Given the description of an element on the screen output the (x, y) to click on. 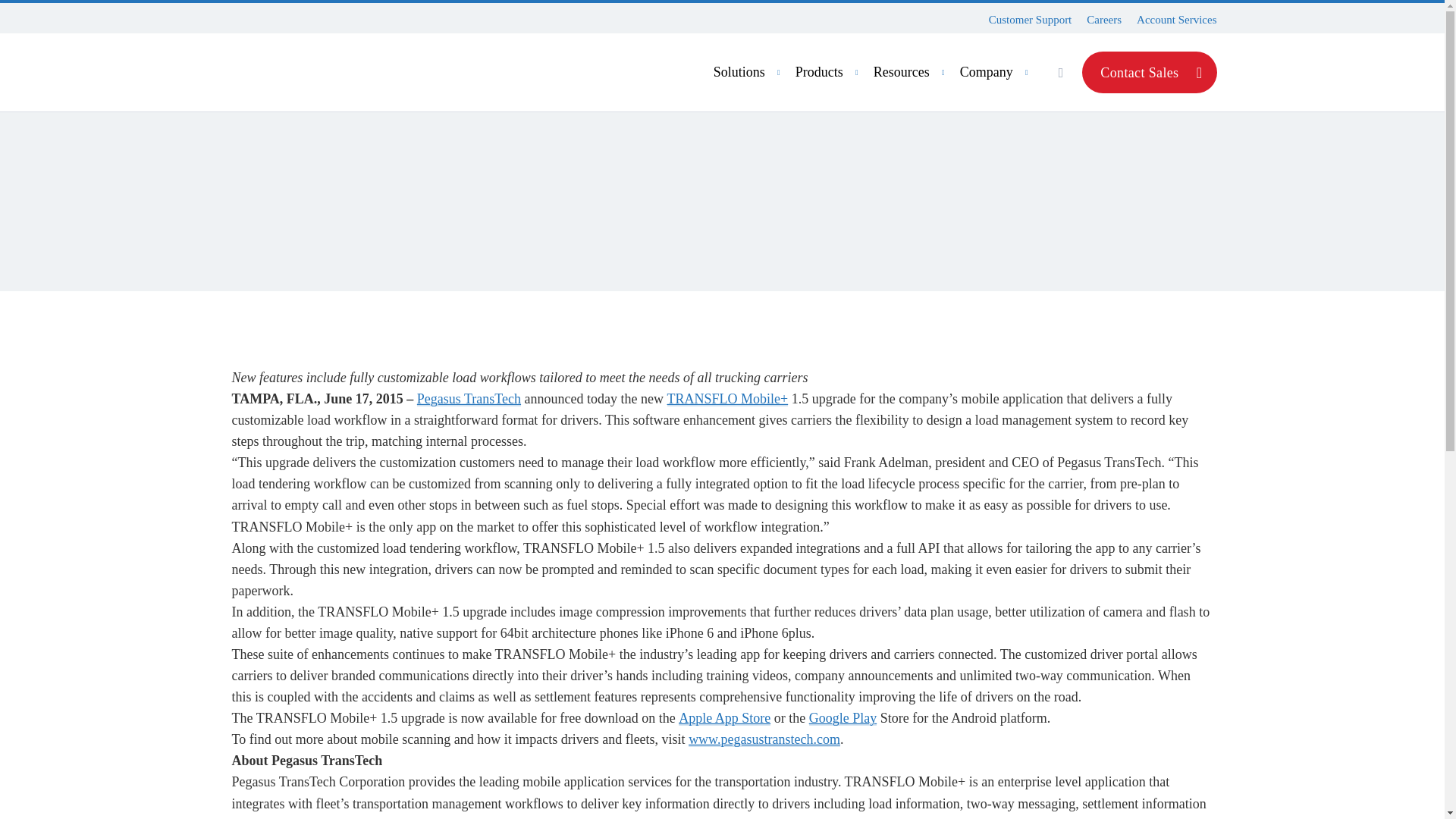
Careers (1103, 19)
Solutions (748, 72)
Contact Sales (1148, 72)
Resources (878, 72)
Account Services (911, 72)
Customer Support (1176, 19)
